Given the description of an element on the screen output the (x, y) to click on. 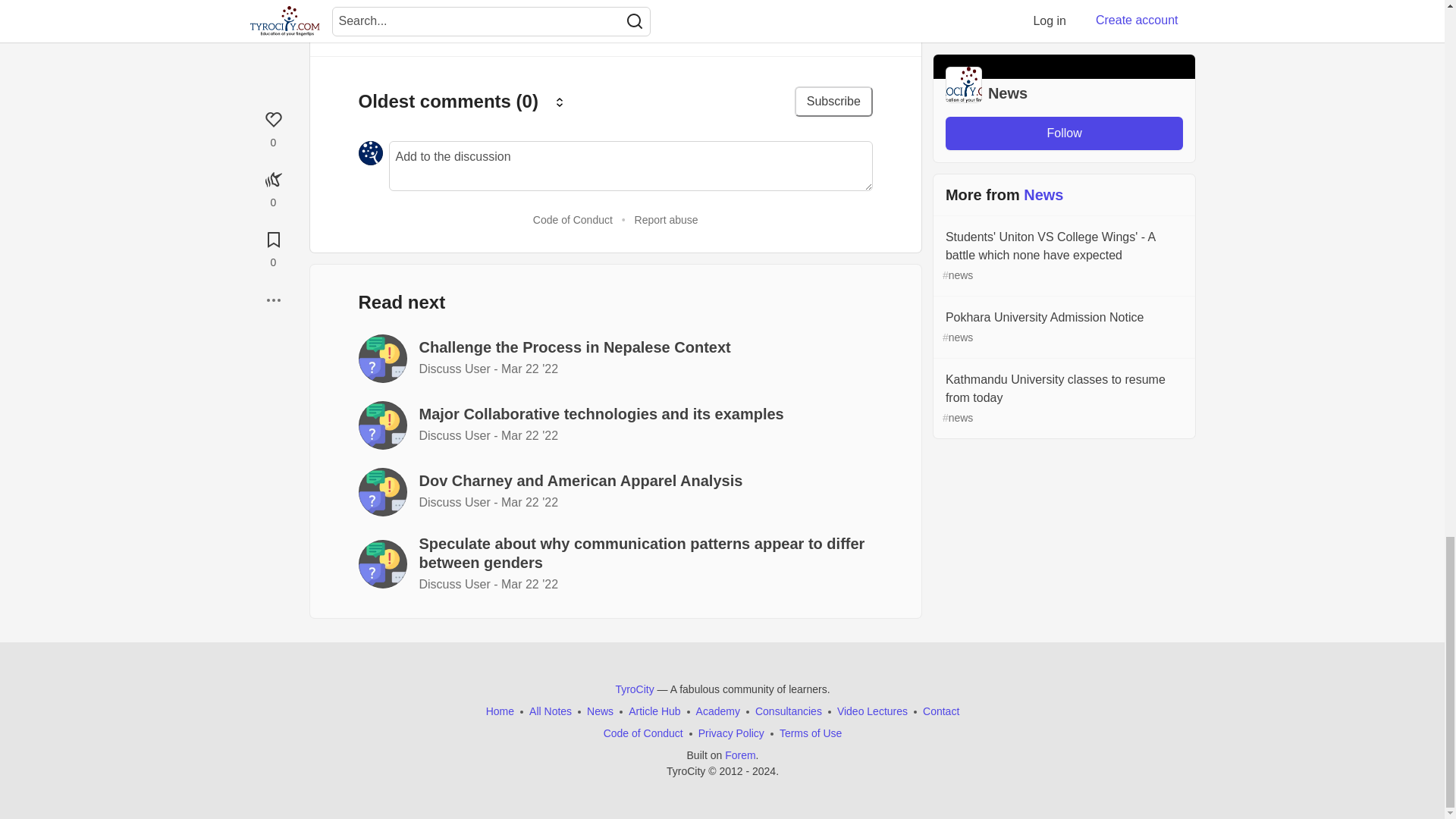
copyright (711, 770)
Code of Conduct (572, 219)
Crown (559, 102)
Subscribe (833, 101)
Crown (559, 101)
Report abuse (666, 219)
